Given the description of an element on the screen output the (x, y) to click on. 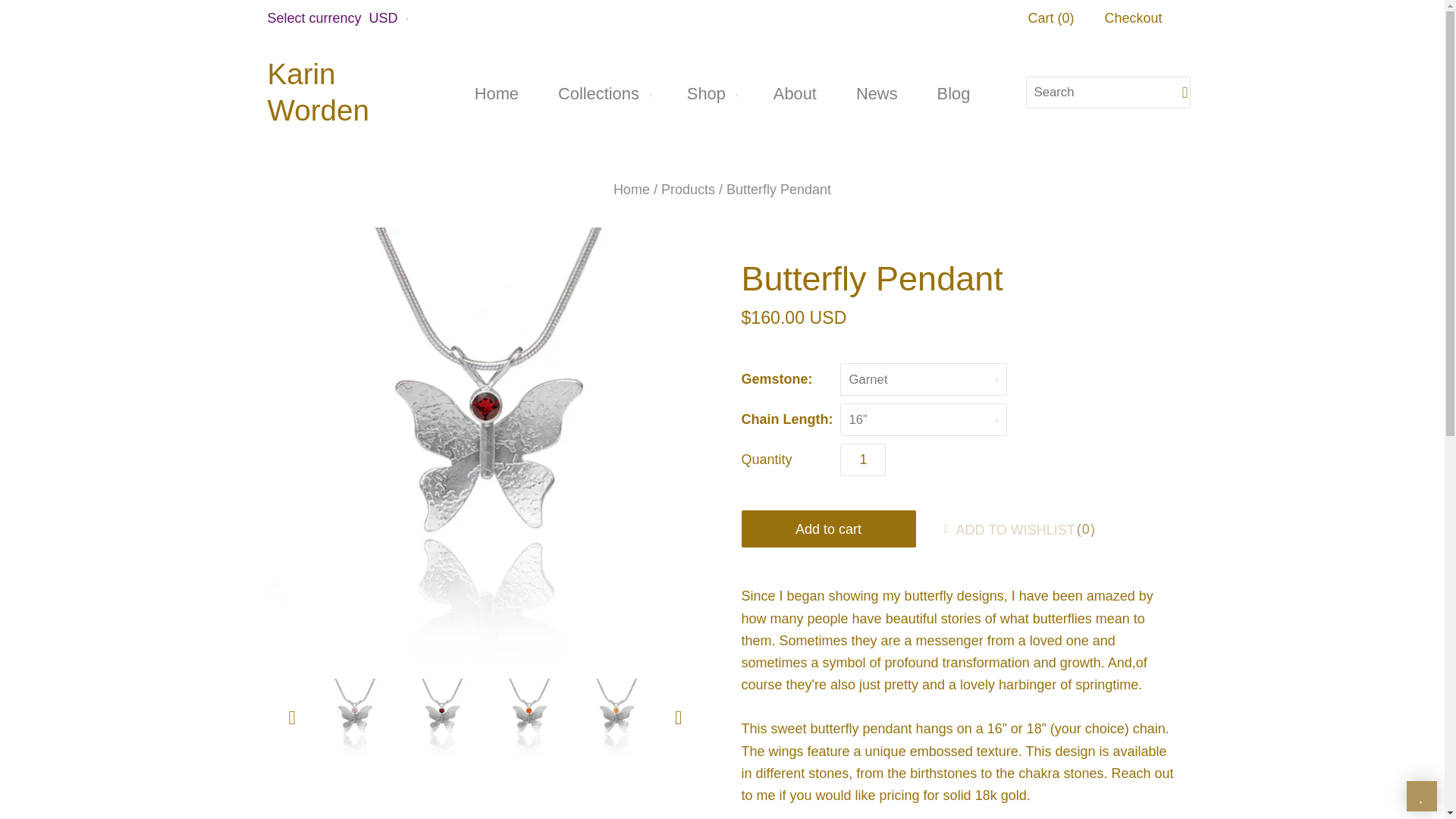
Home (496, 92)
ADD TO WISHLIST (1004, 529)
Karin Worden (342, 92)
Blog (953, 92)
Shop (710, 92)
About (794, 92)
1 (862, 459)
Add to cart (828, 528)
Add to cart (828, 528)
Checkout (1132, 18)
Collections (602, 92)
News (876, 92)
Home (630, 189)
Products (687, 189)
